Given the description of an element on the screen output the (x, y) to click on. 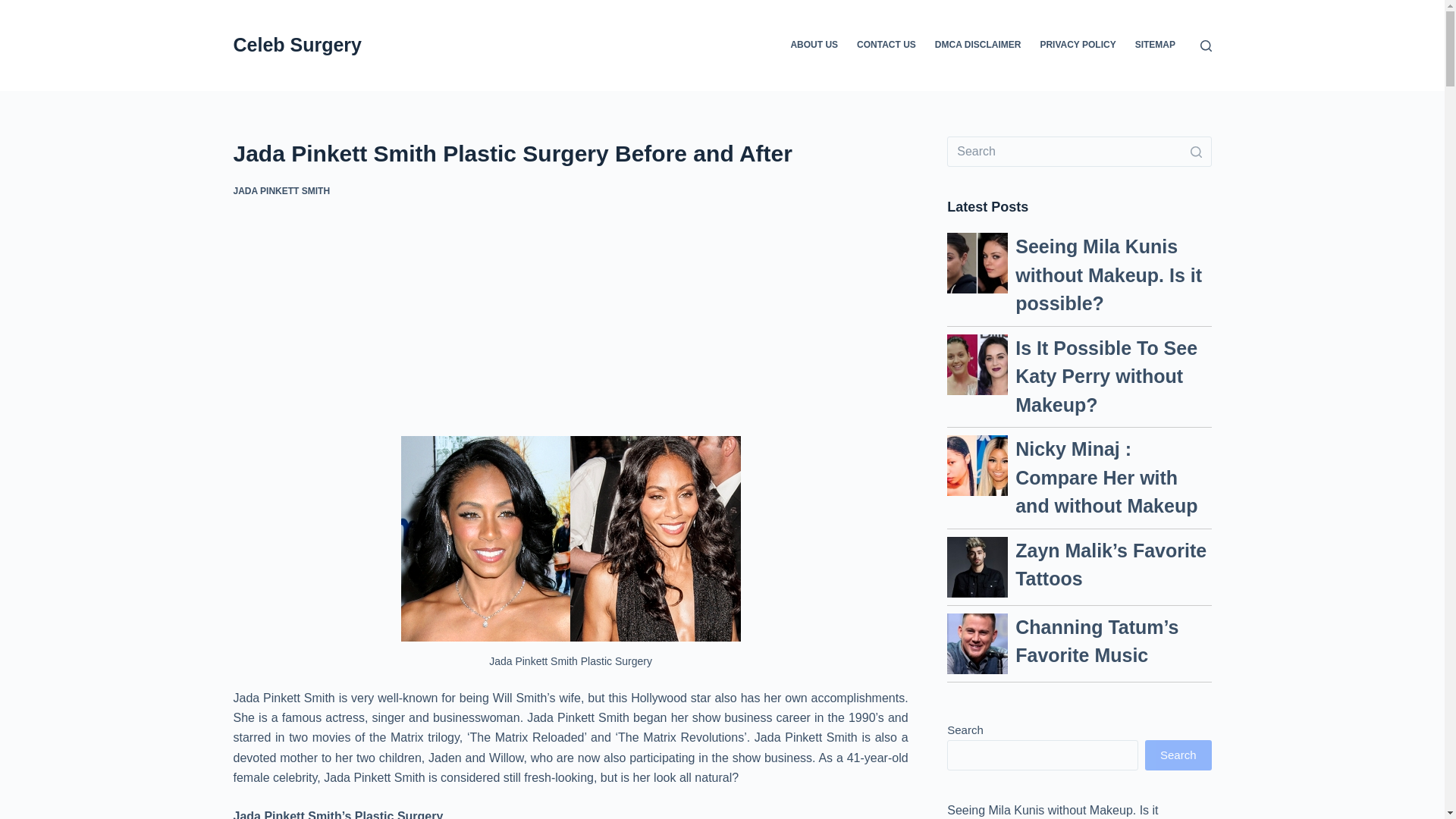
Skip to content (15, 7)
Is It Possible To See Katy Perry without Makeup? (977, 363)
Is It Possible To See Katy Perry without Makeup? (1105, 375)
Nicky Minaj : Compare Her with and without Makeup (1105, 477)
Search Input (1079, 151)
Jada Pinkett Smith Plastic Surgery Before and After (570, 153)
PRIVACY POLICY (1077, 45)
JADA PINKETT SMITH (281, 190)
DMCA DISCLAIMER (977, 45)
Nicky Minaj : Compare Her with and without Makeup (977, 465)
